Given the description of an element on the screen output the (x, y) to click on. 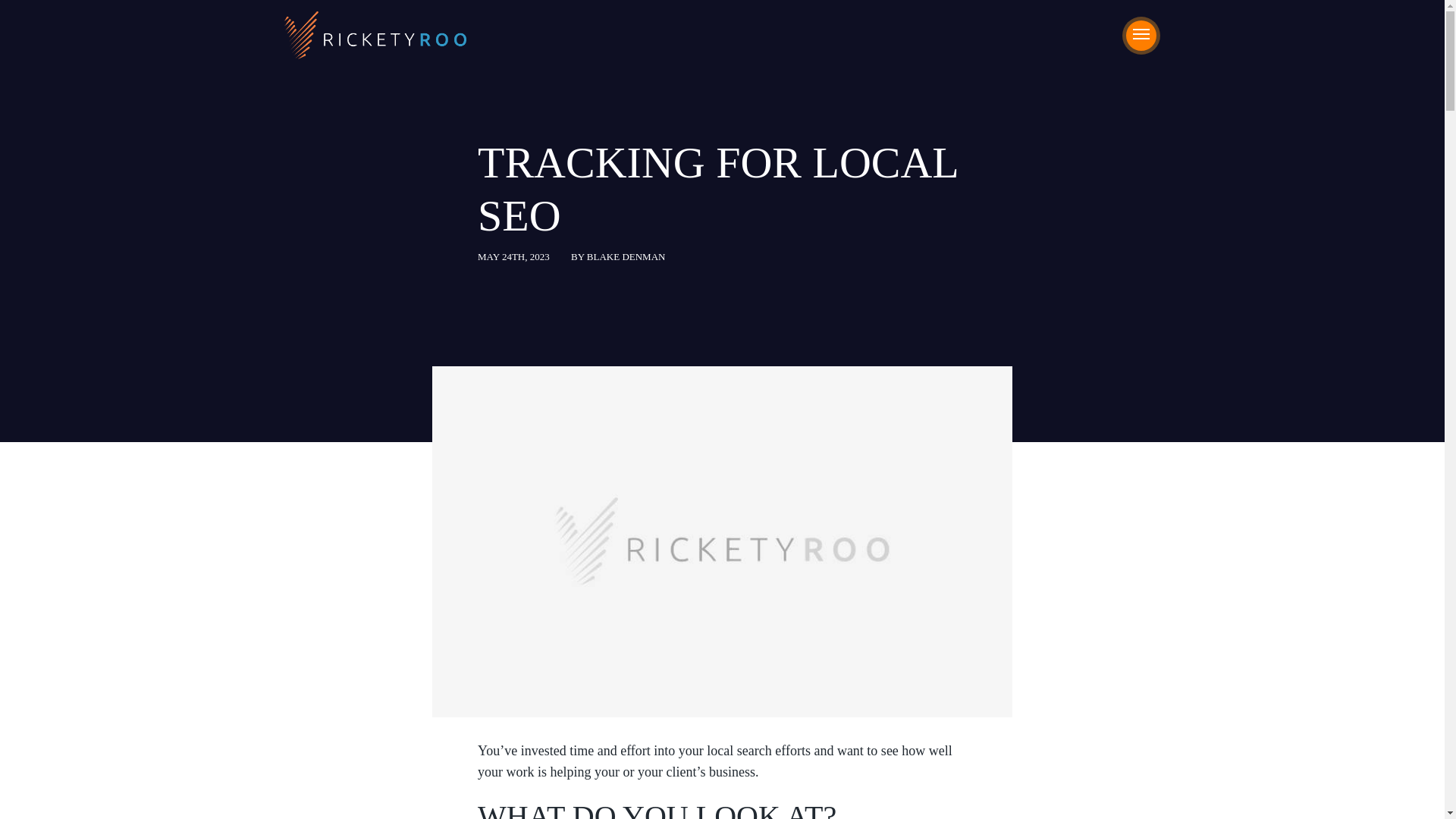
Posts by Blake Denman (625, 256)
BLAKE DENMAN (625, 256)
